Given the description of an element on the screen output the (x, y) to click on. 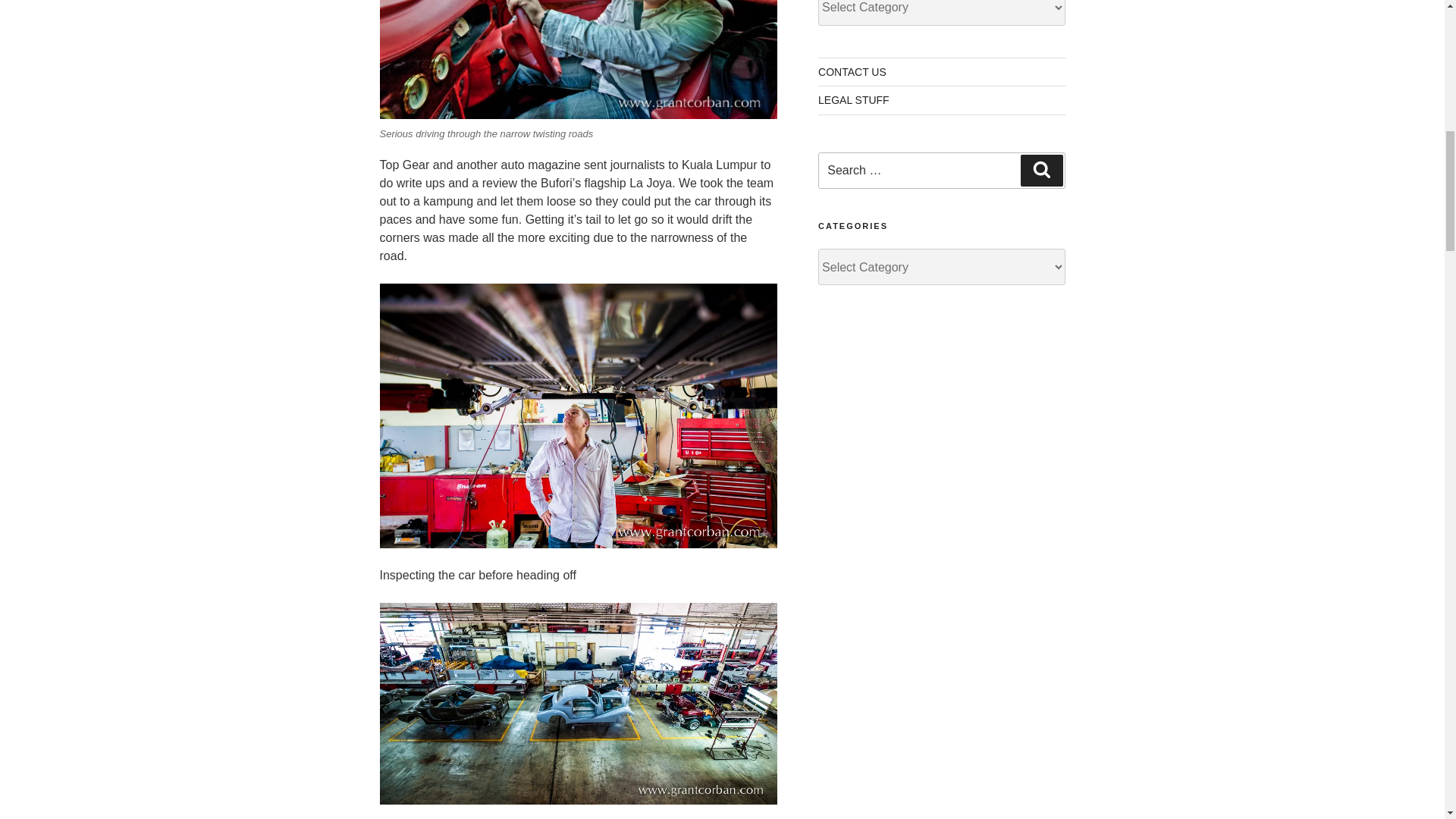
Search (1041, 170)
CONTACT US (852, 71)
LEGAL STUFF (853, 100)
